Given the description of an element on the screen output the (x, y) to click on. 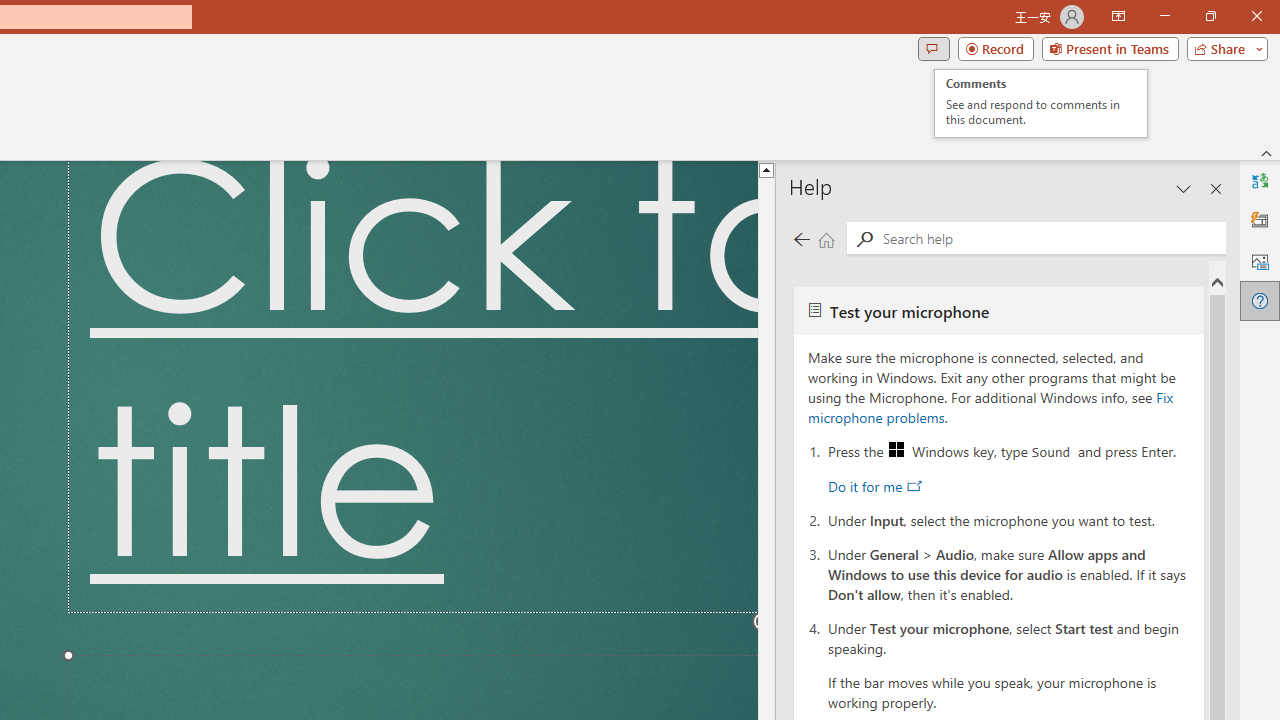
Do it for me (874, 486)
New Windows key logo (896, 449)
Title TextBox (412, 386)
Under Input, select the microphone you want to test. (1041, 103)
Task Pane Options (1009, 519)
Designer (1183, 188)
Fix microphone problems (1260, 220)
Comments (989, 407)
Present in Teams (933, 48)
Close (1109, 48)
Help (1256, 16)
